Given the description of an element on the screen output the (x, y) to click on. 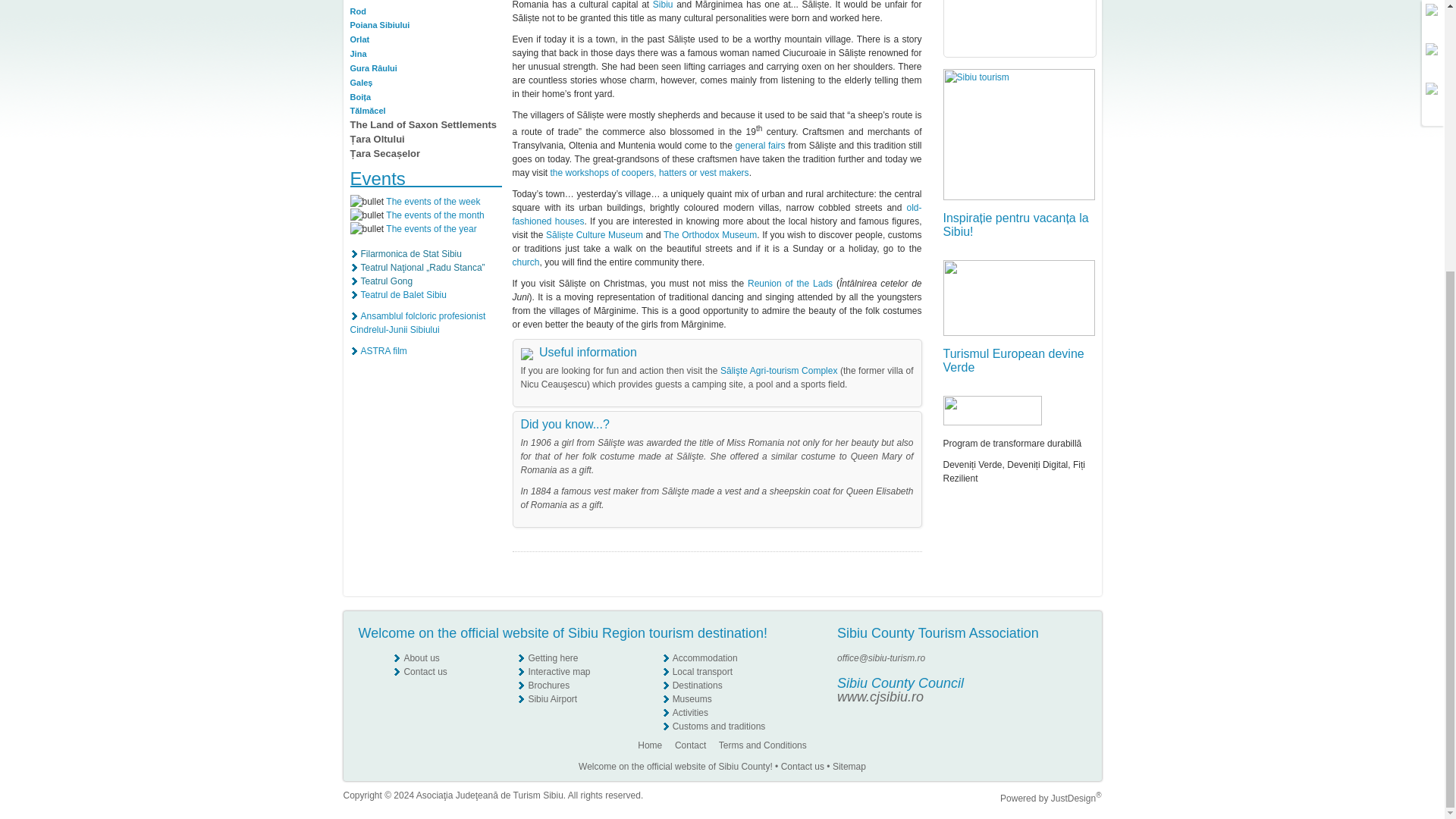
Flickr (1077, 671)
Sibiu tourism (1018, 133)
Twitter (1077, 685)
Facebook (1077, 657)
You Tube (1076, 698)
